Given the description of an element on the screen output the (x, y) to click on. 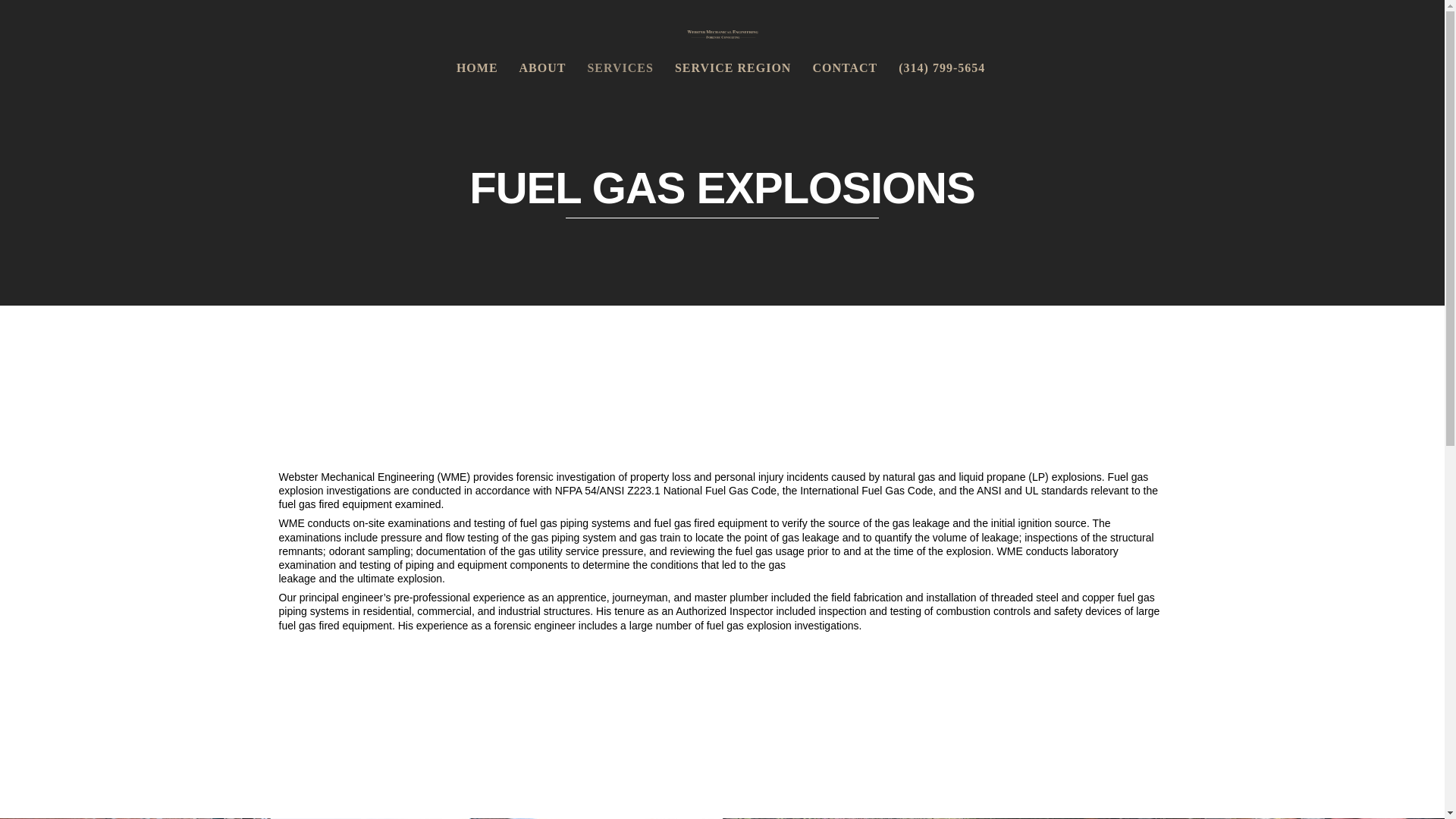
HOME (476, 67)
CONTACT (845, 67)
SERVICE REGION (732, 67)
SERVICES (619, 67)
ABOUT (542, 67)
